Given the description of an element on the screen output the (x, y) to click on. 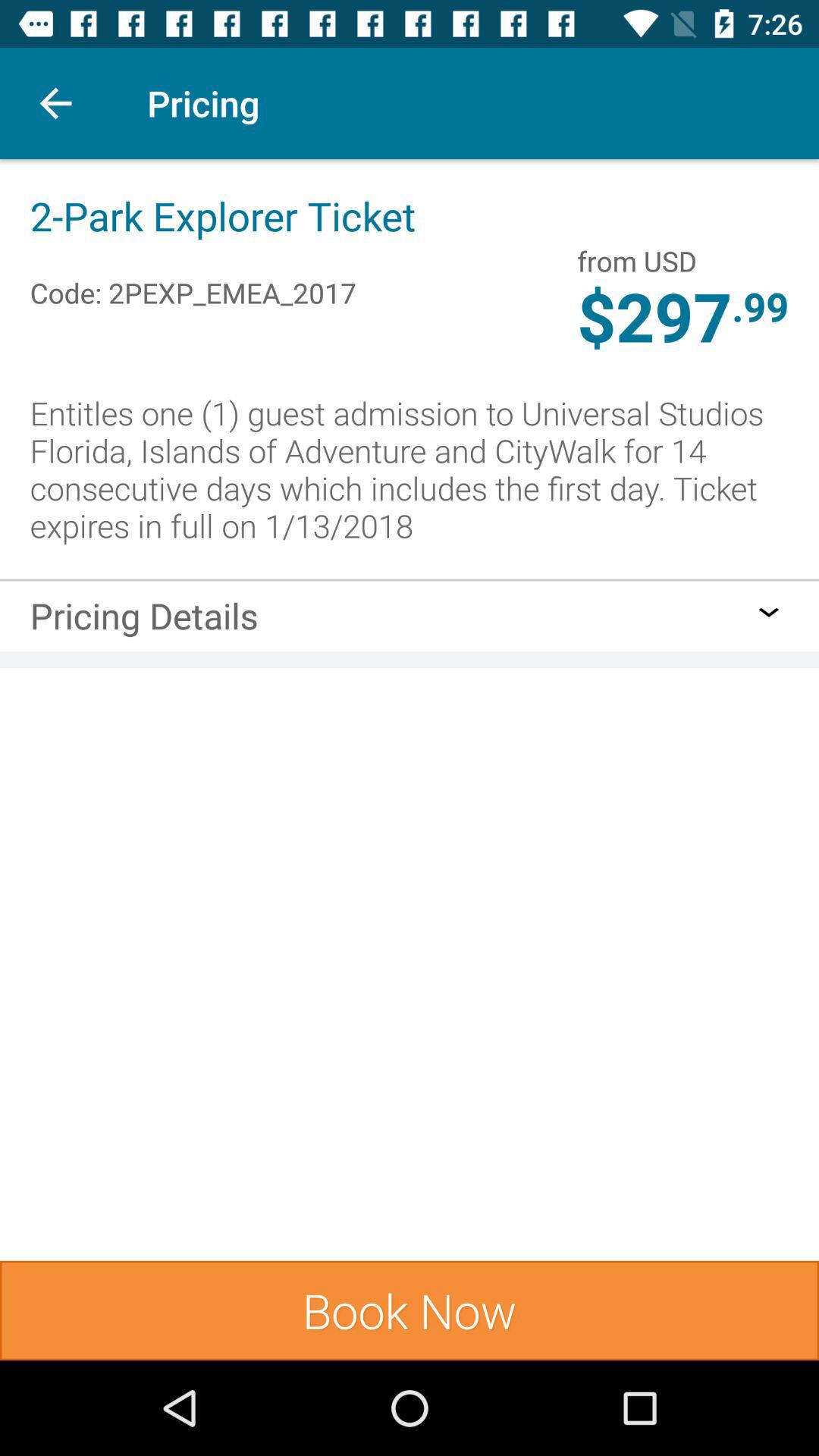
tap pricing details on the left (144, 620)
